Given the description of an element on the screen output the (x, y) to click on. 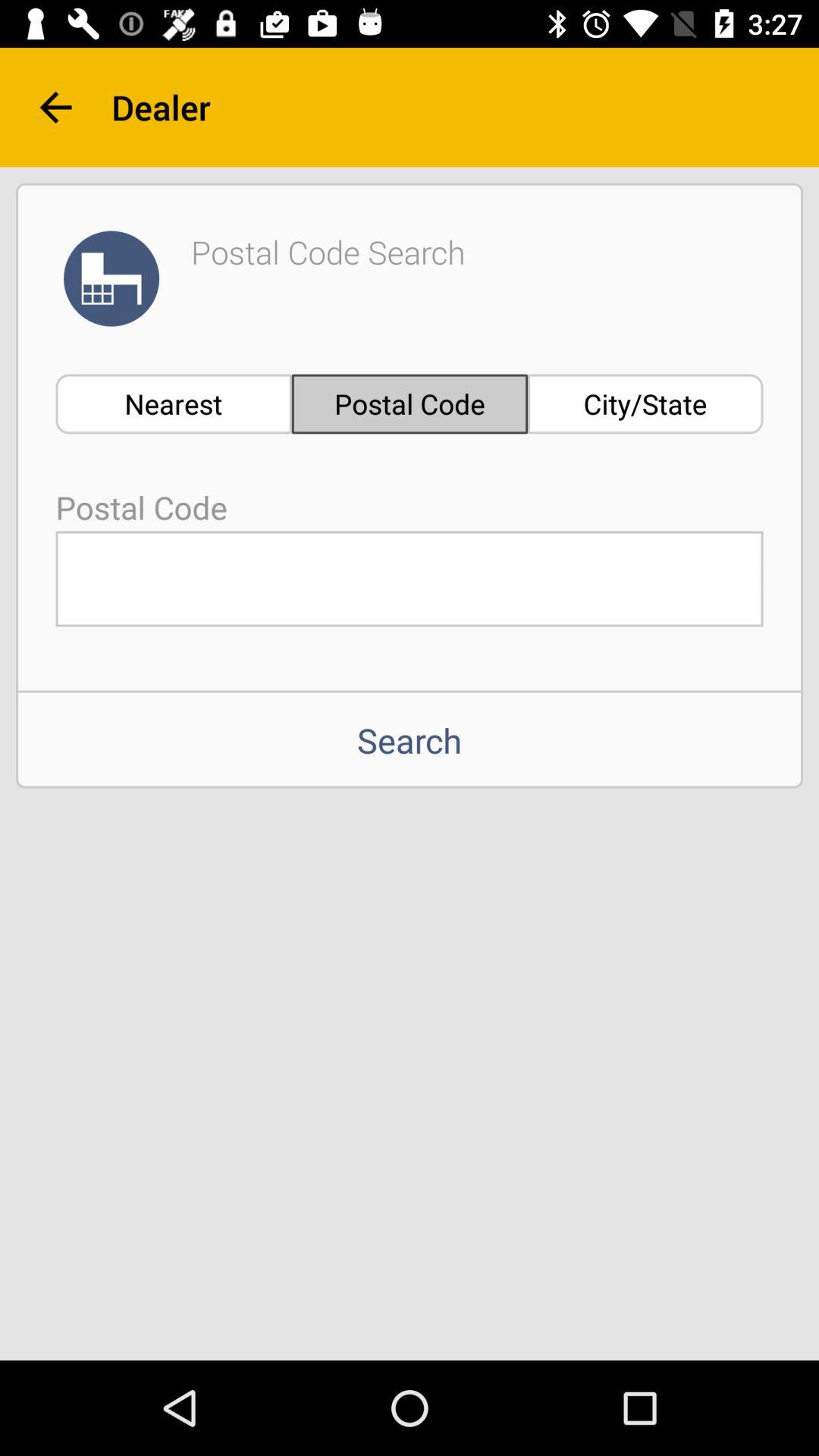
select icon above search item (409, 578)
